Given the description of an element on the screen output the (x, y) to click on. 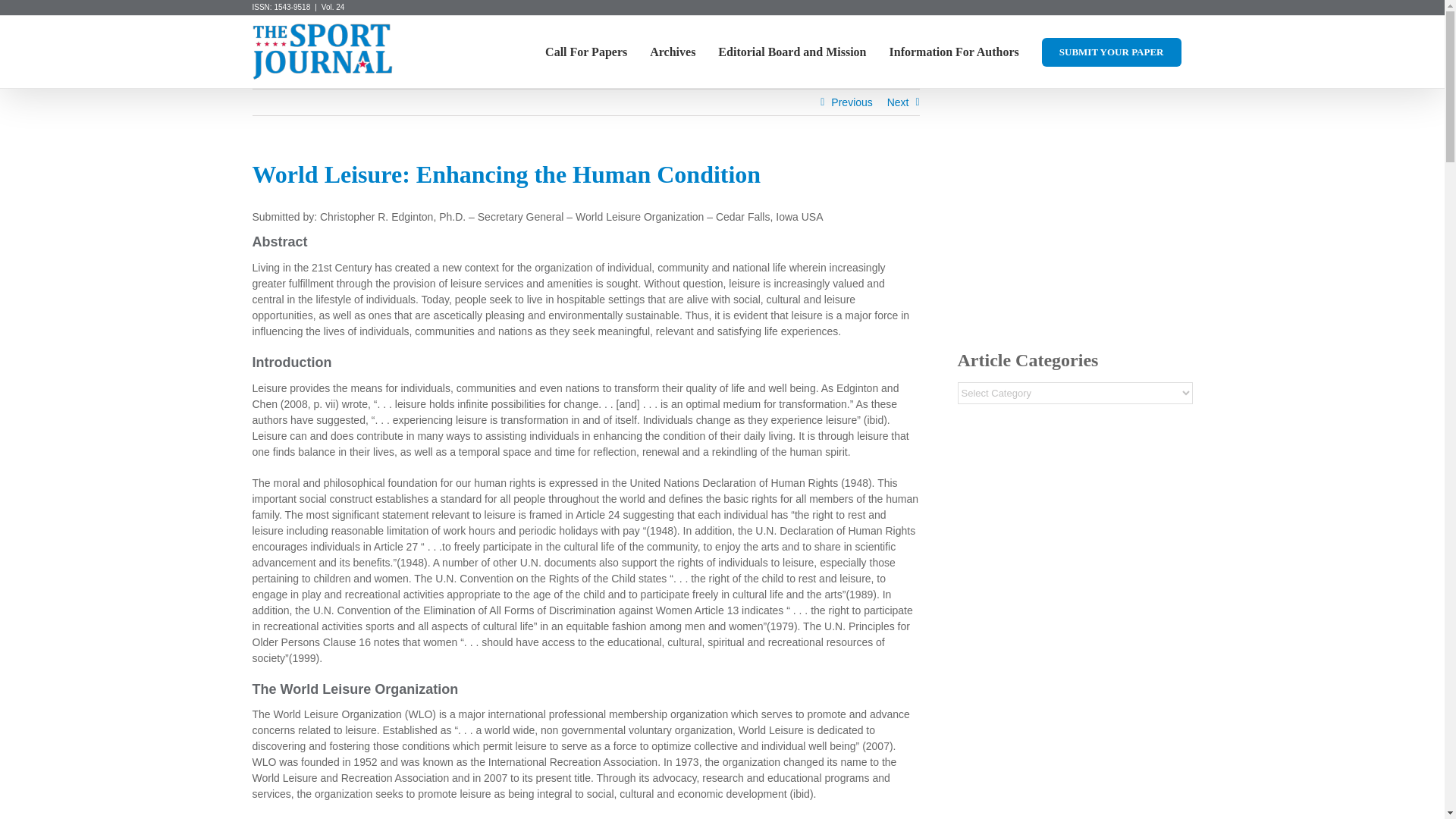
Editorial Board and Mission (791, 51)
SUBMIT YOUR PAPER (1111, 51)
Archives (672, 51)
Information For Authors (953, 51)
Previous (851, 102)
Call For Papers (586, 51)
Vol. 24 (333, 7)
